Given the description of an element on the screen output the (x, y) to click on. 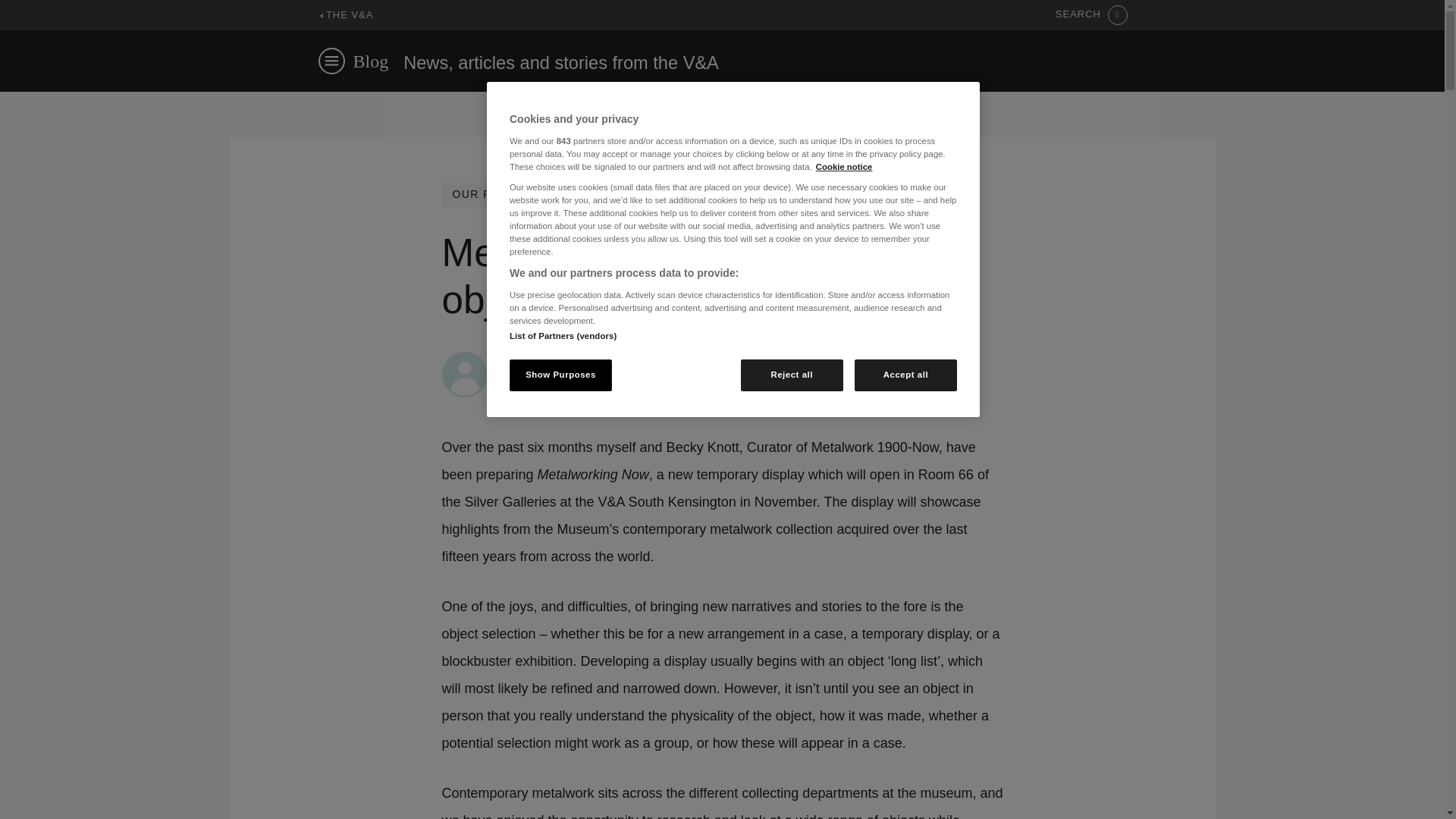
Posts by Clementine Loustric (550, 359)
Blog (370, 60)
SEARCH (1090, 15)
OUR PROJECTS (499, 194)
Clementine Loustric (550, 359)
